Given the description of an element on the screen output the (x, y) to click on. 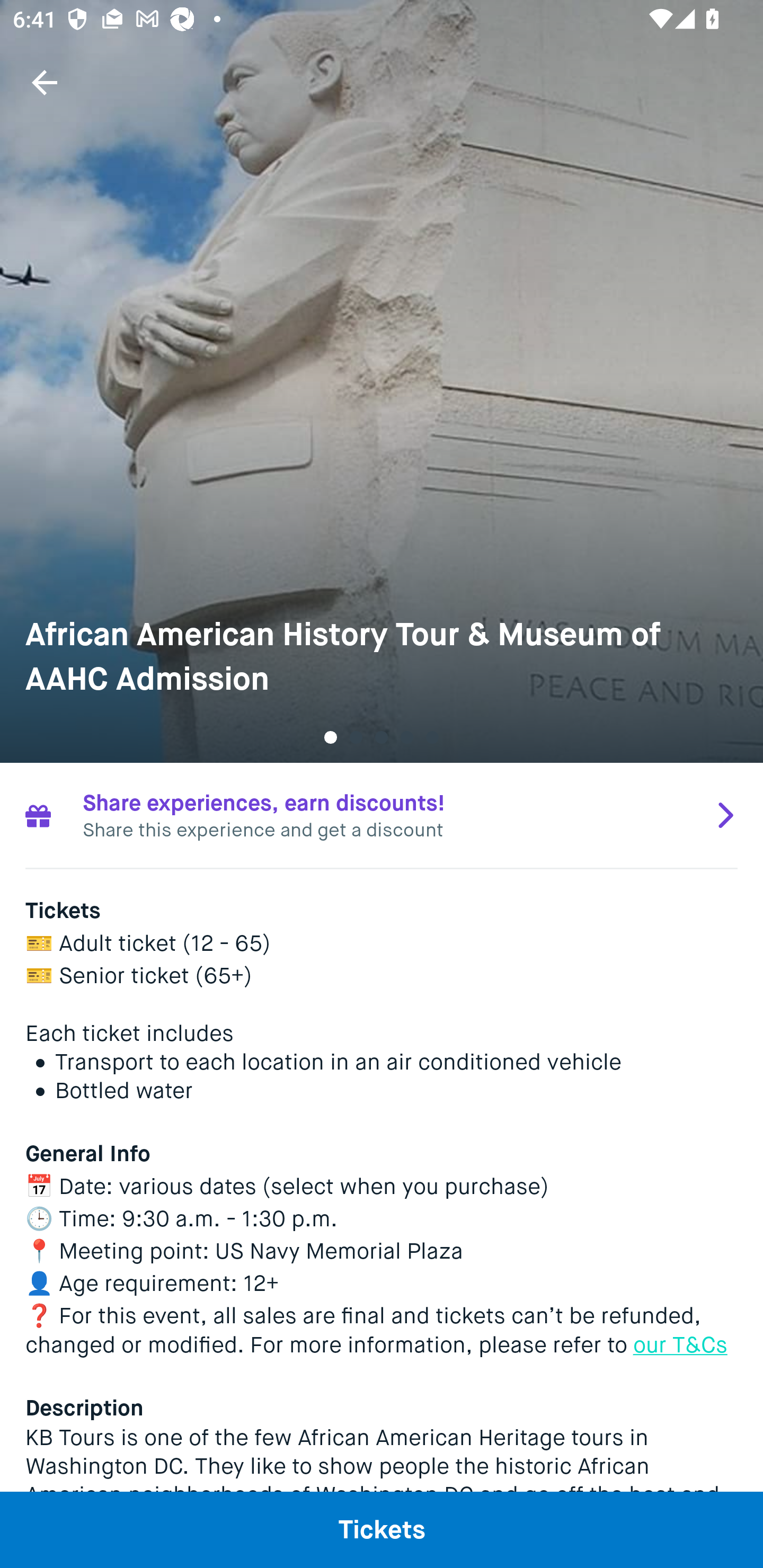
Navigate up (44, 82)
Tickets (381, 1529)
